Given the description of an element on the screen output the (x, y) to click on. 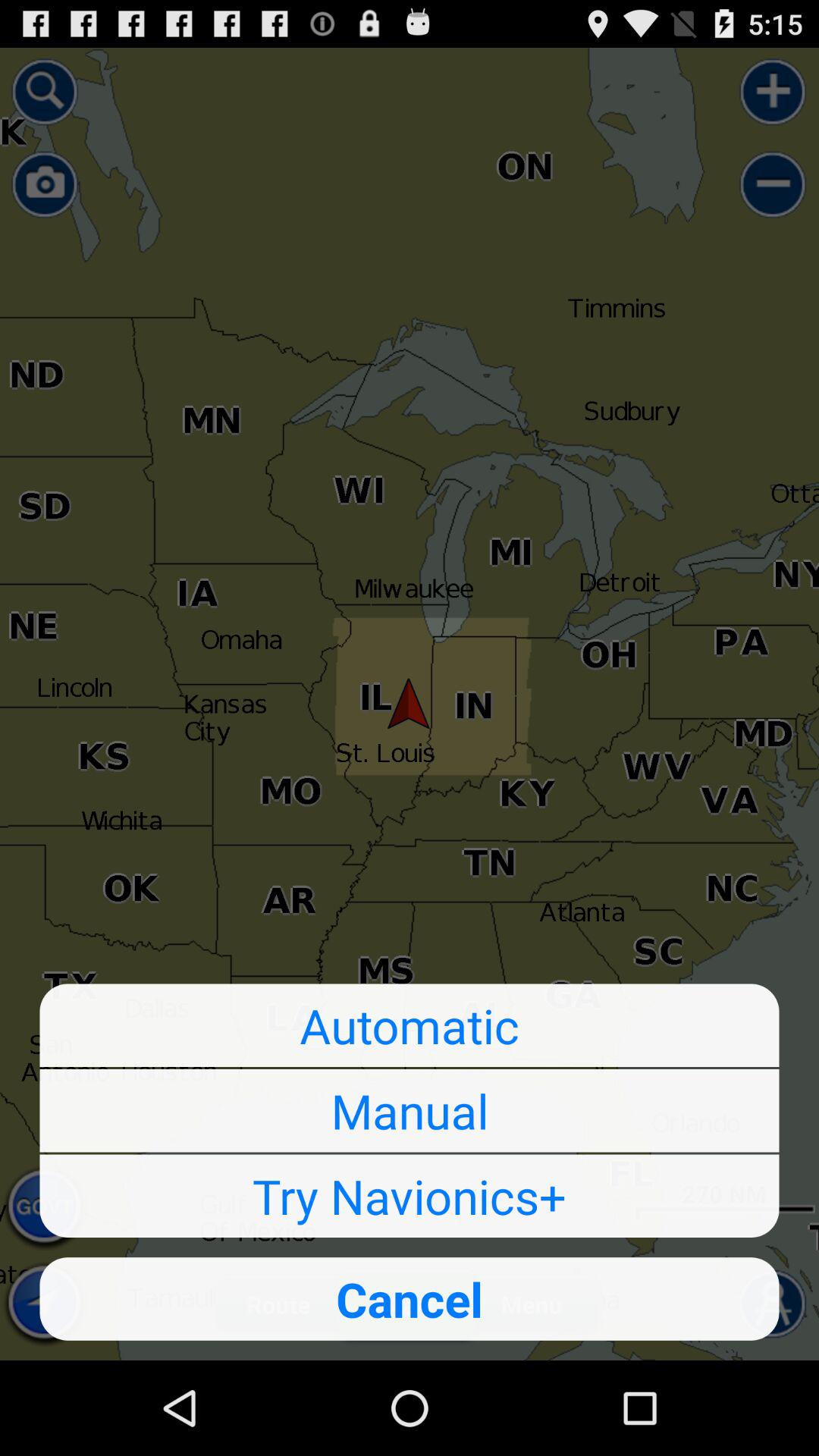
jump until automatic (409, 1024)
